Given the description of an element on the screen output the (x, y) to click on. 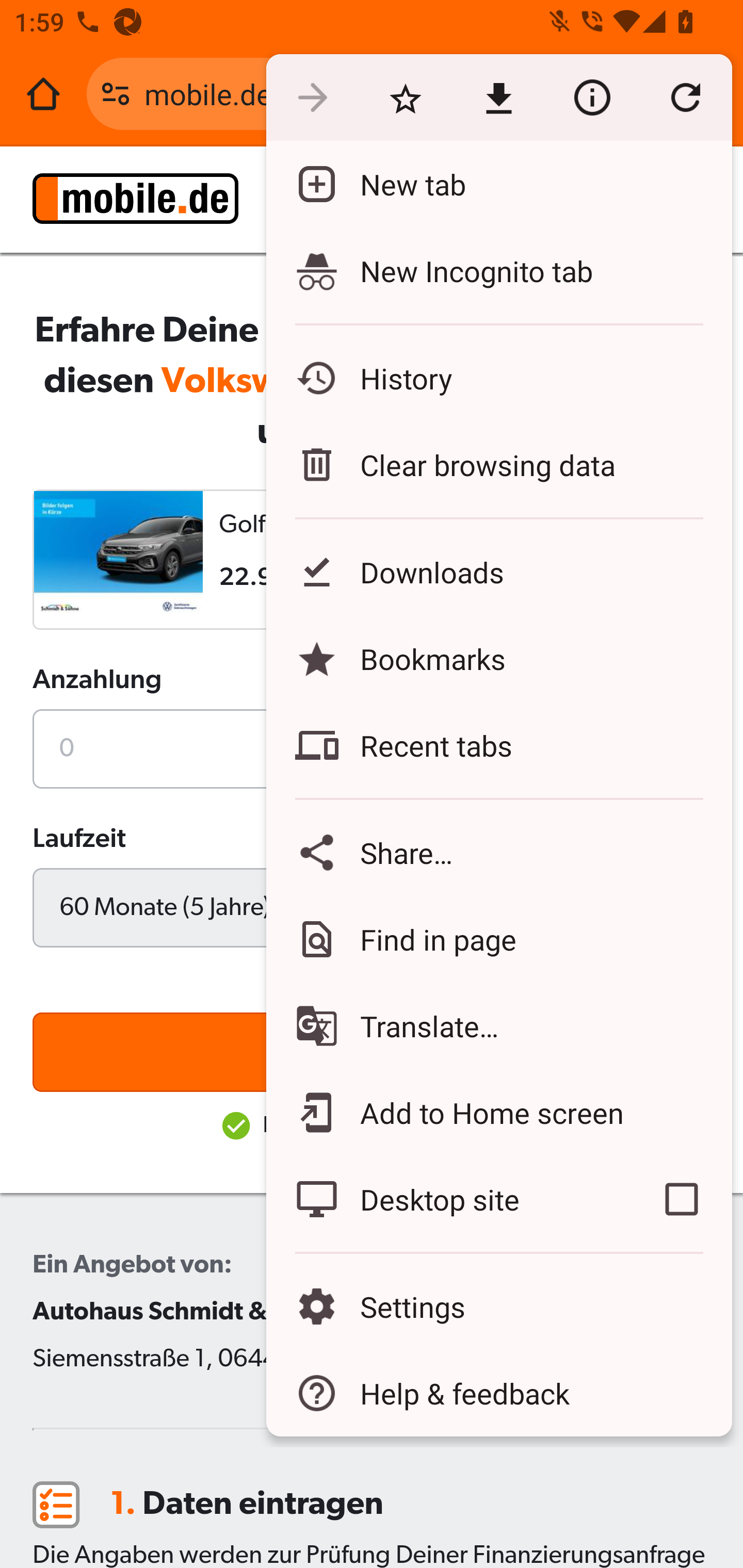
Forward (311, 97)
Bookmark (404, 97)
Download (498, 97)
Page info (591, 97)
Refresh (684, 97)
New tab (498, 184)
New Incognito tab (498, 270)
History (498, 377)
Clear browsing data (498, 464)
Downloads (498, 571)
Bookmarks (498, 658)
Recent tabs (498, 745)
Share… (498, 852)
Find in page (498, 939)
Translate… (498, 1026)
Add to Home screen (498, 1112)
Desktop site Turn on Request desktop site (447, 1198)
Settings (498, 1306)
Help & feedback (498, 1393)
